Given the description of an element on the screen output the (x, y) to click on. 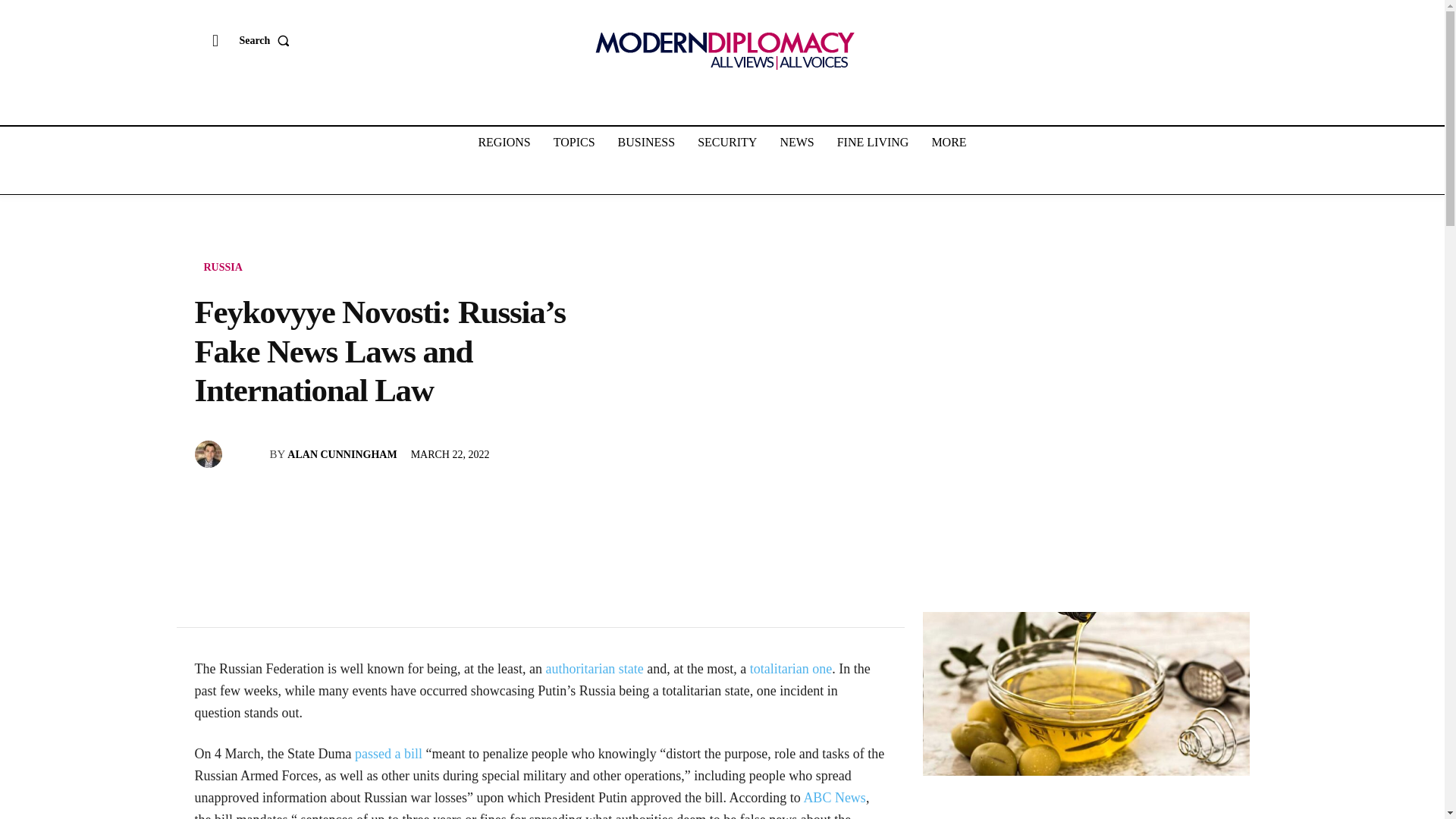
Alan Cunningham (209, 453)
